Given the description of an element on the screen output the (x, y) to click on. 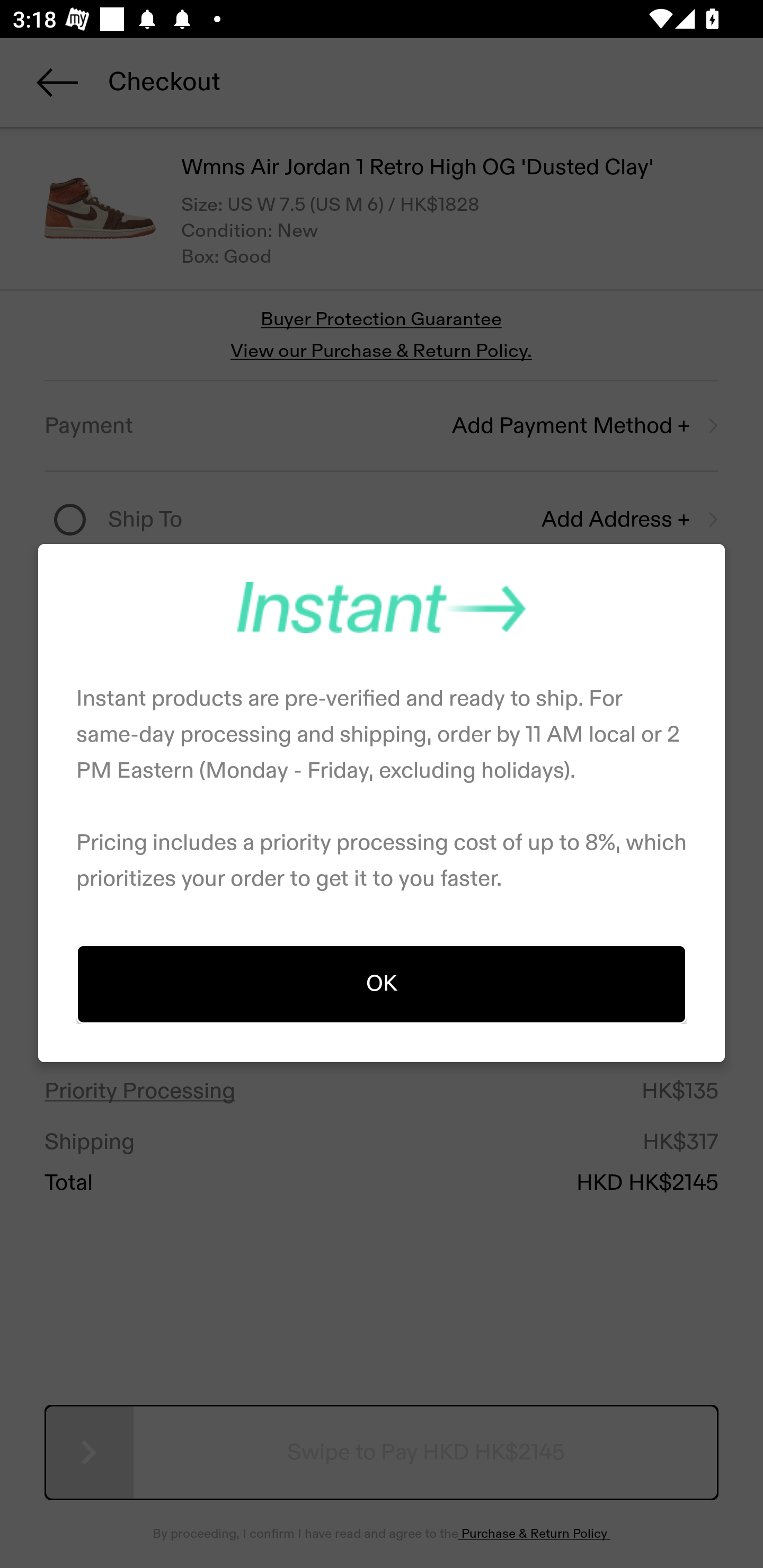
OK (381, 983)
